Given the description of an element on the screen output the (x, y) to click on. 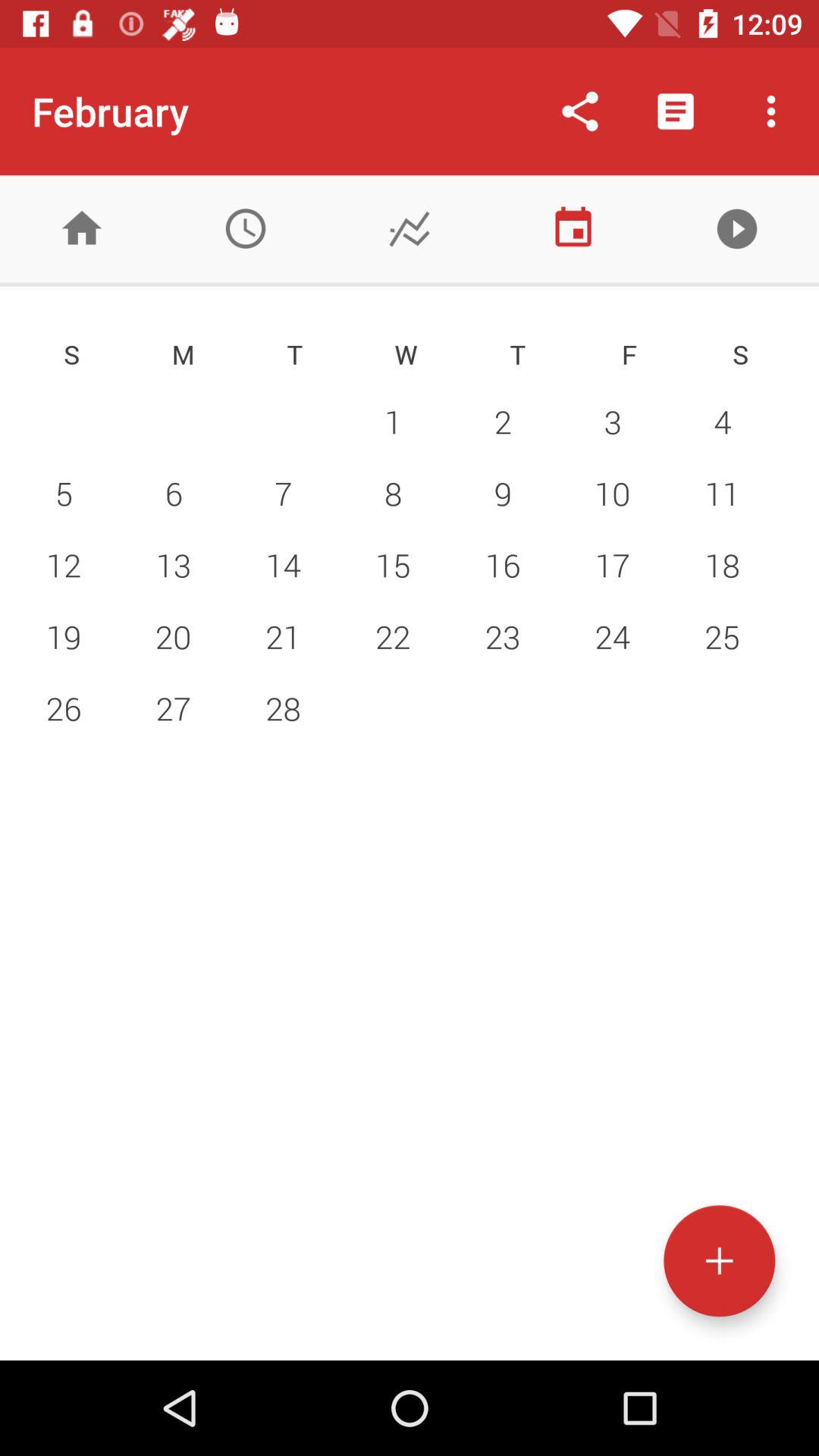
play button (737, 228)
